Given the description of an element on the screen output the (x, y) to click on. 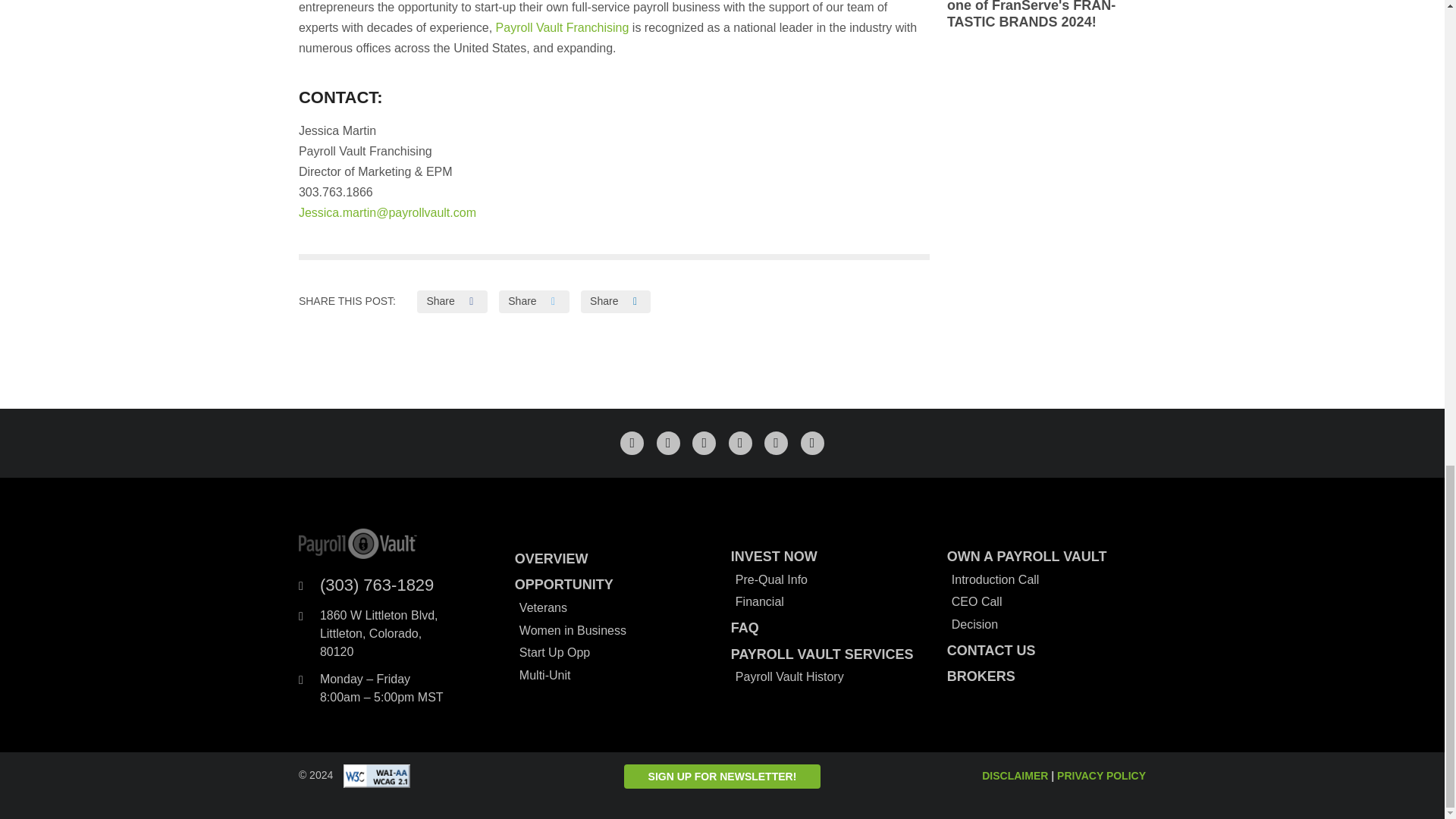
Payroll Vault Franchising (562, 27)
Payroll Vault Franchising (562, 27)
FACEBOOK (631, 443)
GMB (740, 443)
TWITTER (667, 443)
Share (534, 301)
INSTAGRAM (775, 443)
LINKEDIN (704, 443)
Share (451, 301)
OVERVIEW (614, 558)
Share (615, 301)
YOUTUBE (812, 443)
